Given the description of an element on the screen output the (x, y) to click on. 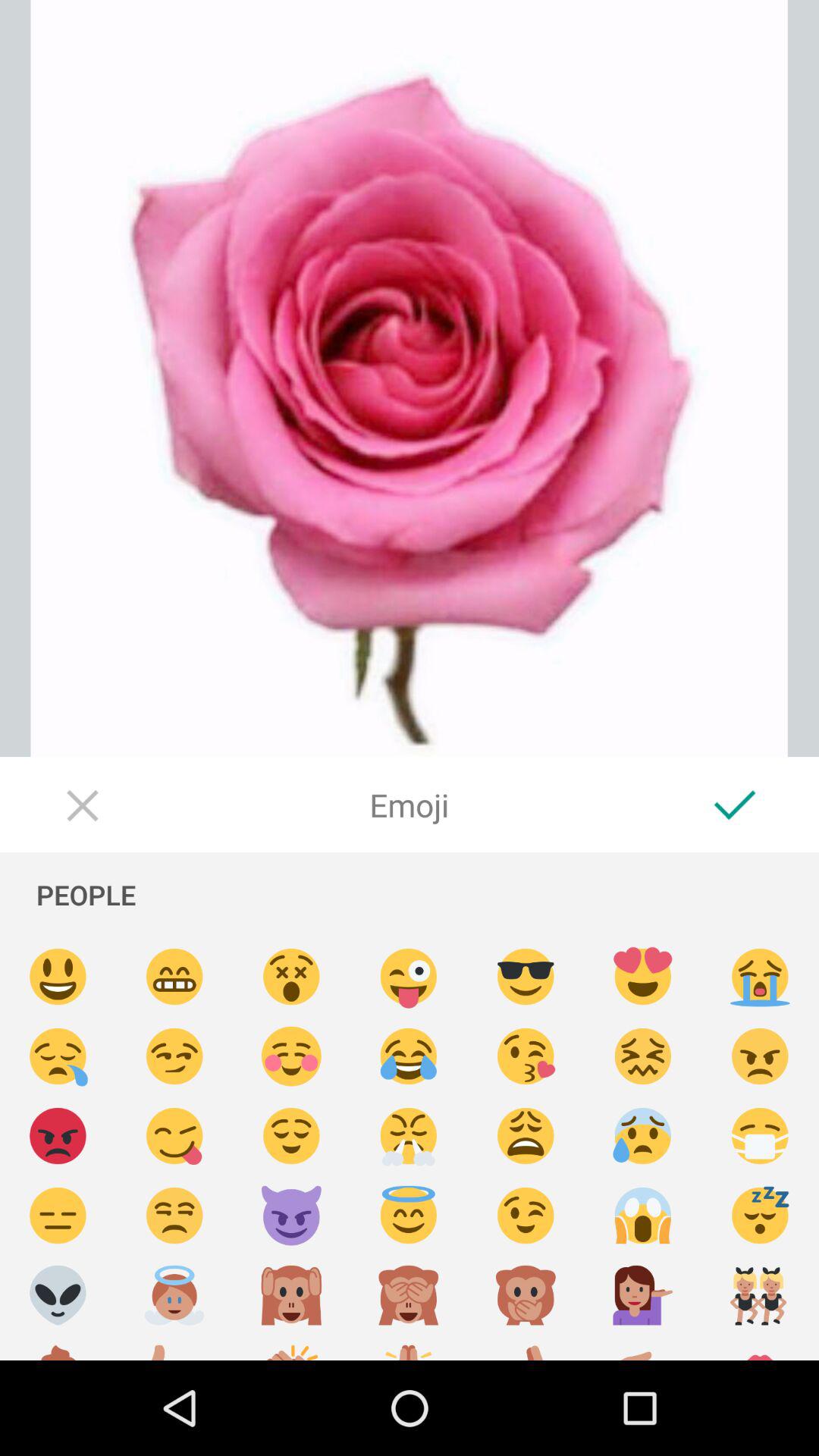
spleep emoji button (760, 1215)
